Given the description of an element on the screen output the (x, y) to click on. 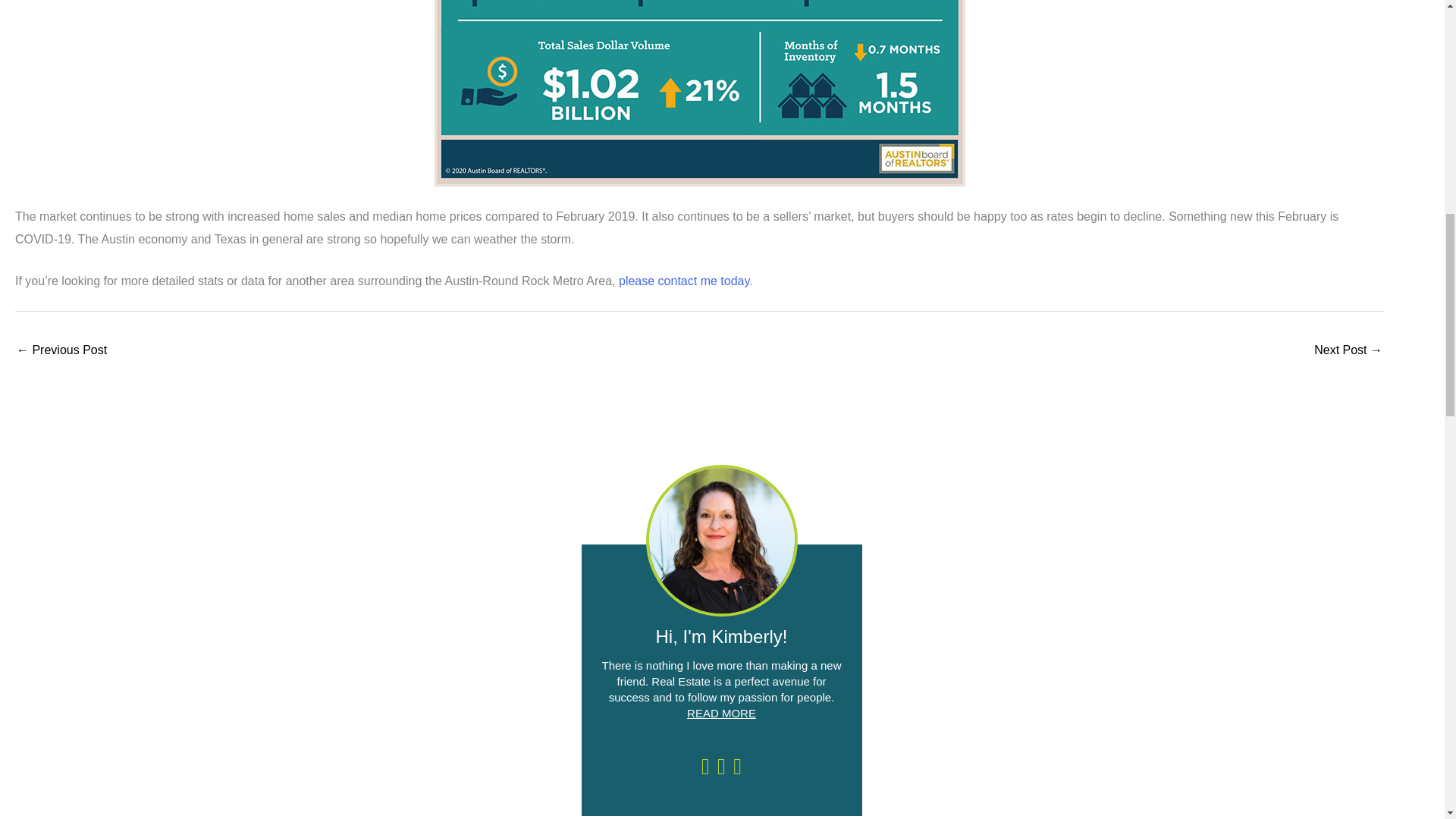
READ MORE (721, 712)
March 2020 Market Updates (1347, 351)
please contact me today (683, 280)
FREE Neighborhood Workout: February 8th (61, 351)
